Given the description of an element on the screen output the (x, y) to click on. 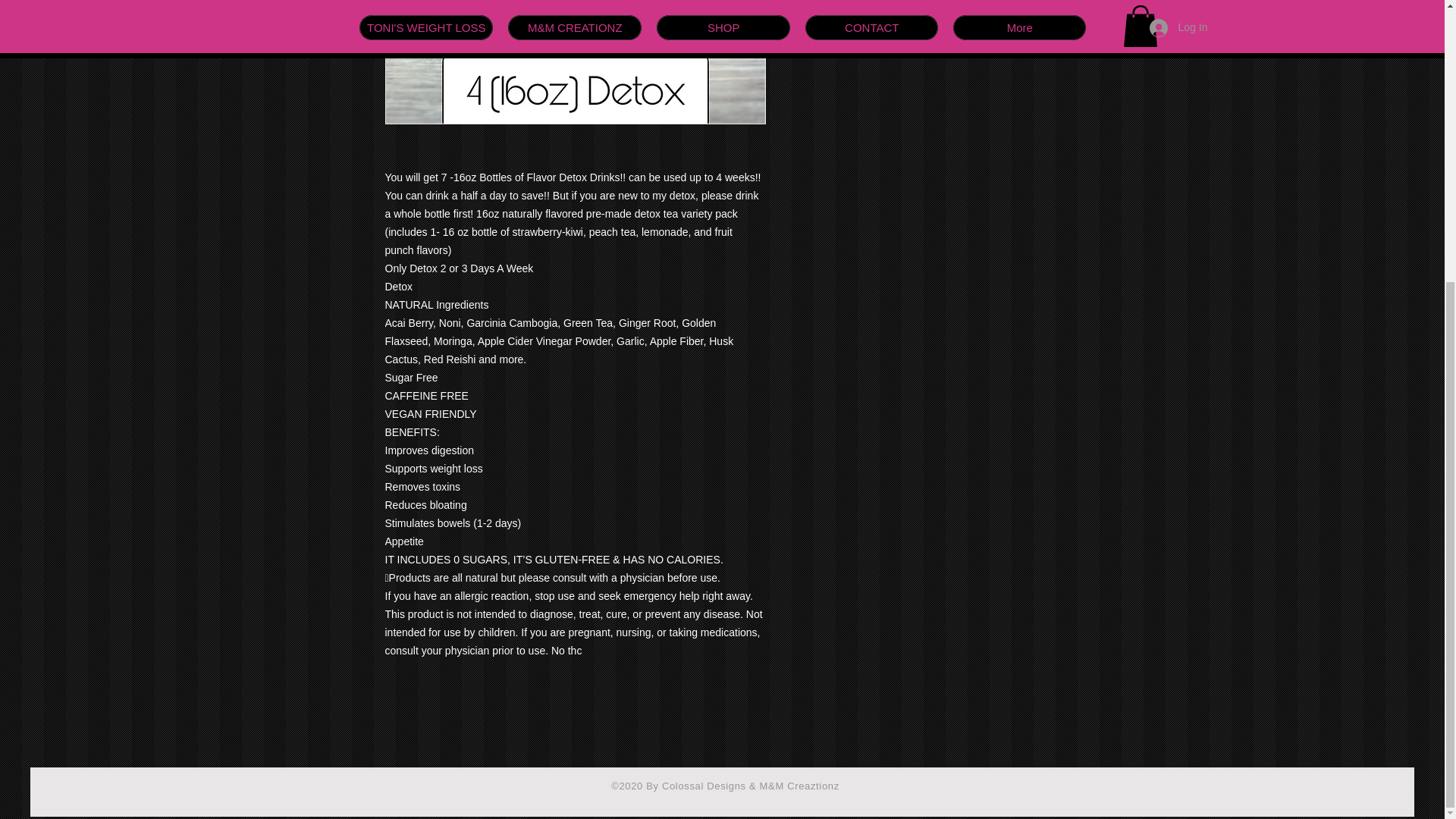
Add to Cart (924, 4)
